Given the description of an element on the screen output the (x, y) to click on. 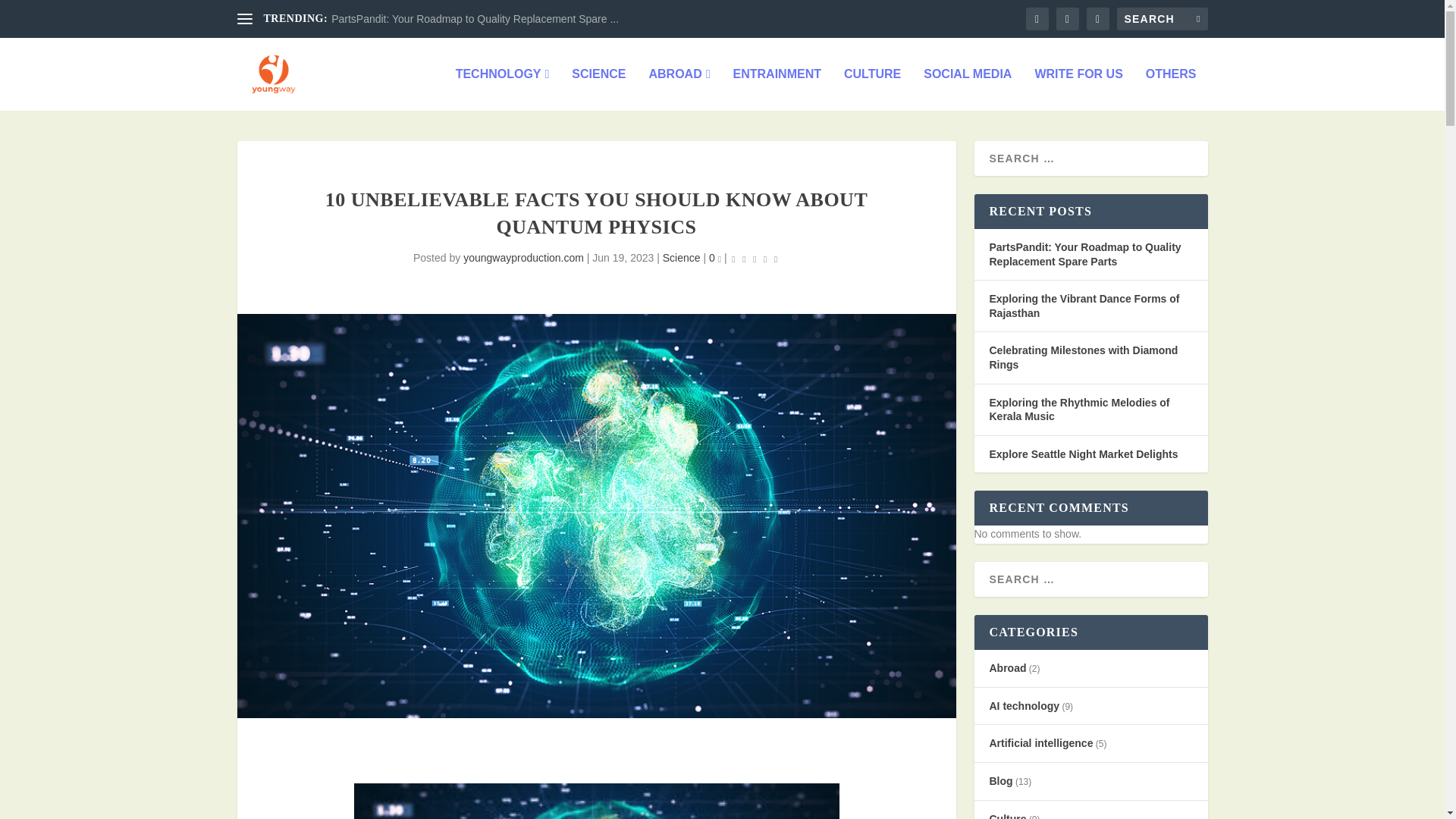
ENTRAINMENT (777, 88)
Science (681, 257)
CULTURE (872, 88)
Posts by youngwayproduction.com (523, 257)
Rating: 0.00 (753, 258)
OTHERS (1170, 88)
Search for: (1161, 18)
youngwayproduction.com (523, 257)
SCIENCE (599, 88)
TECHNOLOGY (502, 88)
ABROAD (678, 88)
WRITE FOR US (1077, 88)
PartsPandit: Your Roadmap to Quality Replacement Spare ... (474, 19)
SOCIAL MEDIA (967, 88)
comment count (718, 259)
